Given the description of an element on the screen output the (x, y) to click on. 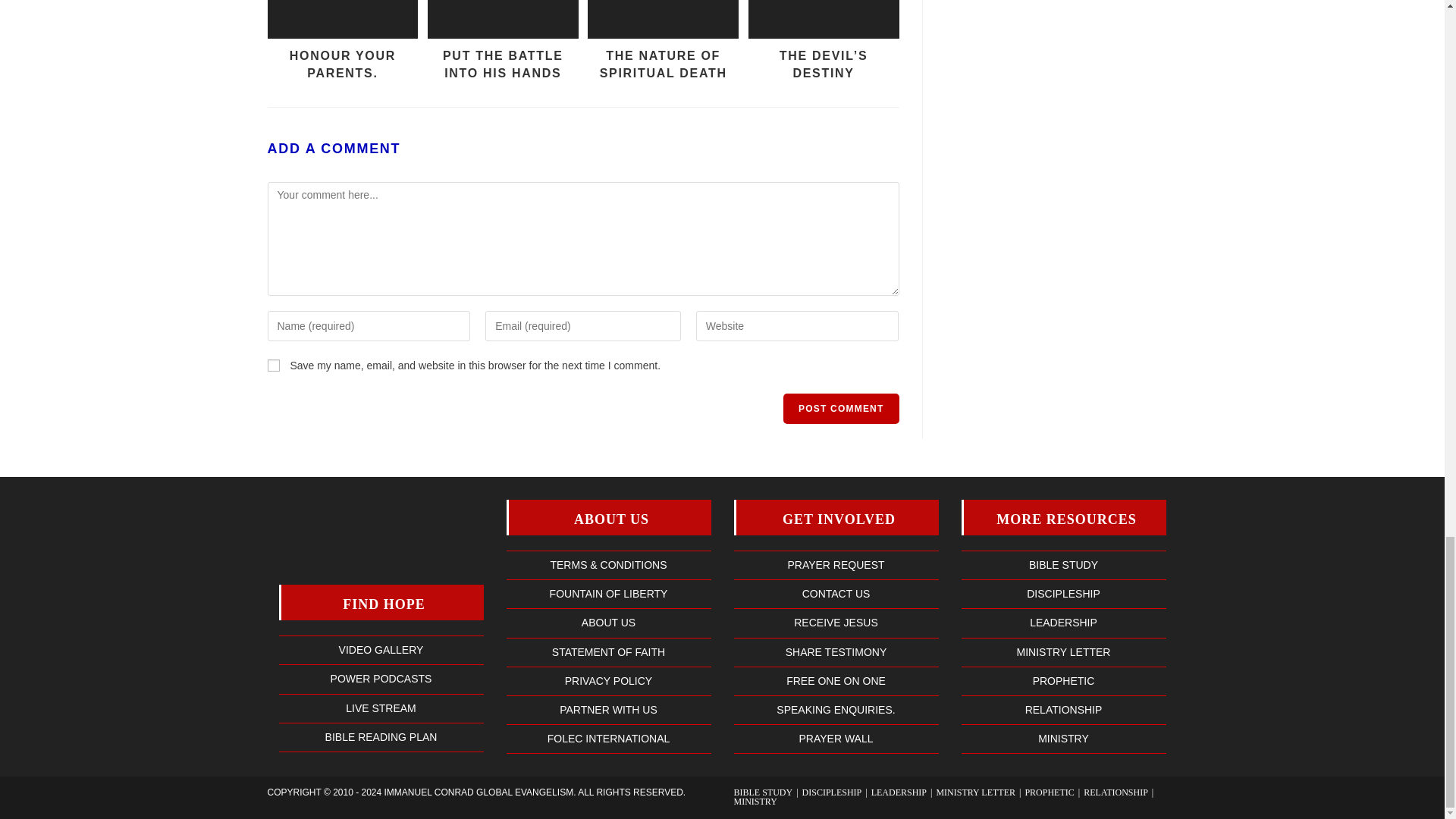
Post Comment (840, 408)
WATCH OUR NEW VIDEOS (381, 649)
GO TO FOUNTAIN OF LIBERTY EMBASSY CHURCH INTERNATIONAL (609, 593)
yes (272, 365)
